Given the description of an element on the screen output the (x, y) to click on. 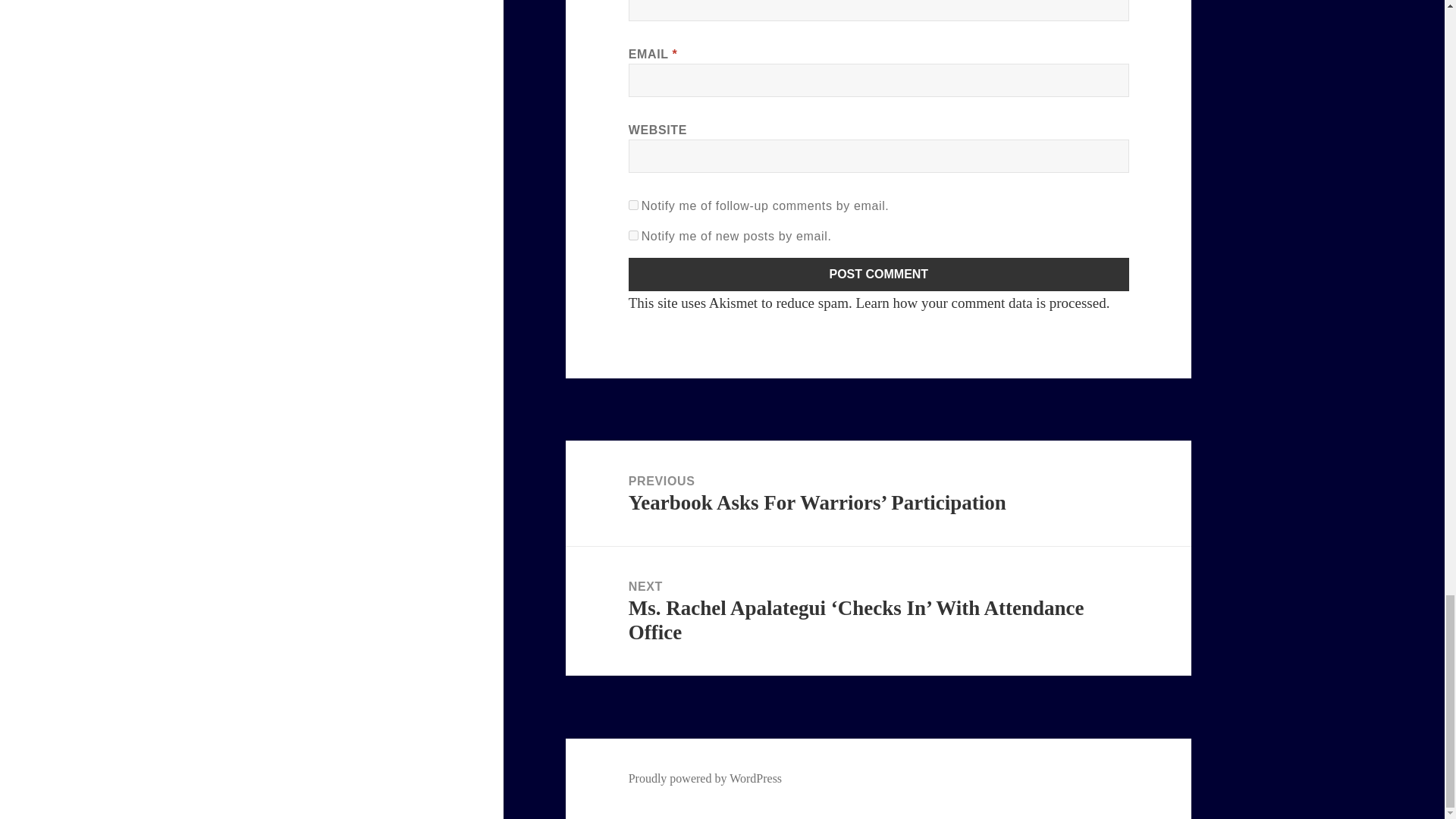
subscribe (633, 235)
Post Comment (878, 274)
Proudly powered by WordPress (704, 778)
Post Comment (878, 274)
subscribe (633, 204)
Learn how your comment data is processed (980, 302)
